Given the description of an element on the screen output the (x, y) to click on. 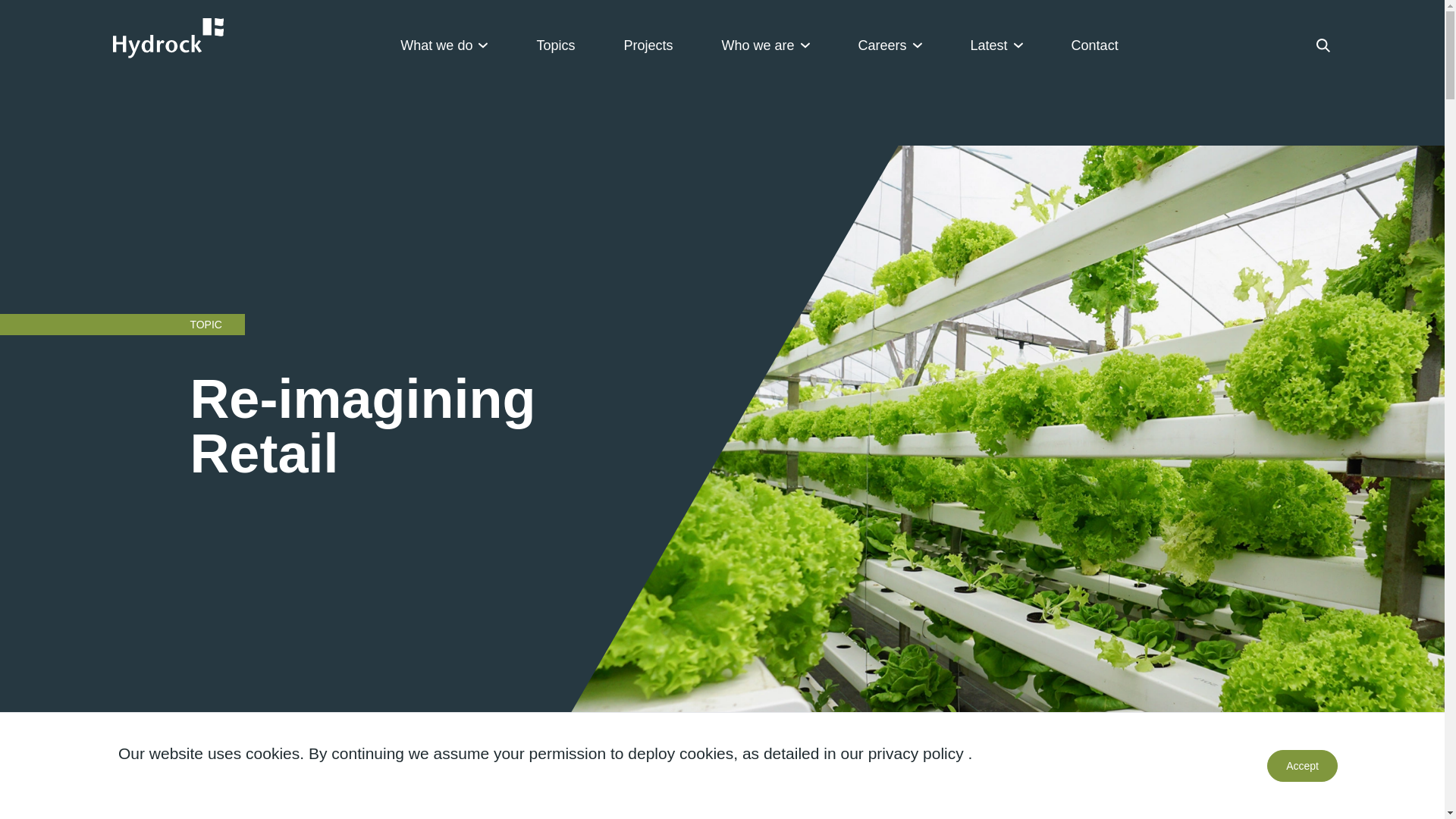
Who we are (764, 45)
What we do (443, 45)
Careers (890, 45)
What we do (443, 45)
Latest (996, 45)
Projects (647, 45)
Contact (1094, 45)
Topics (555, 45)
Hydrock Homepage (167, 38)
Projects (647, 45)
